Given the description of an element on the screen output the (x, y) to click on. 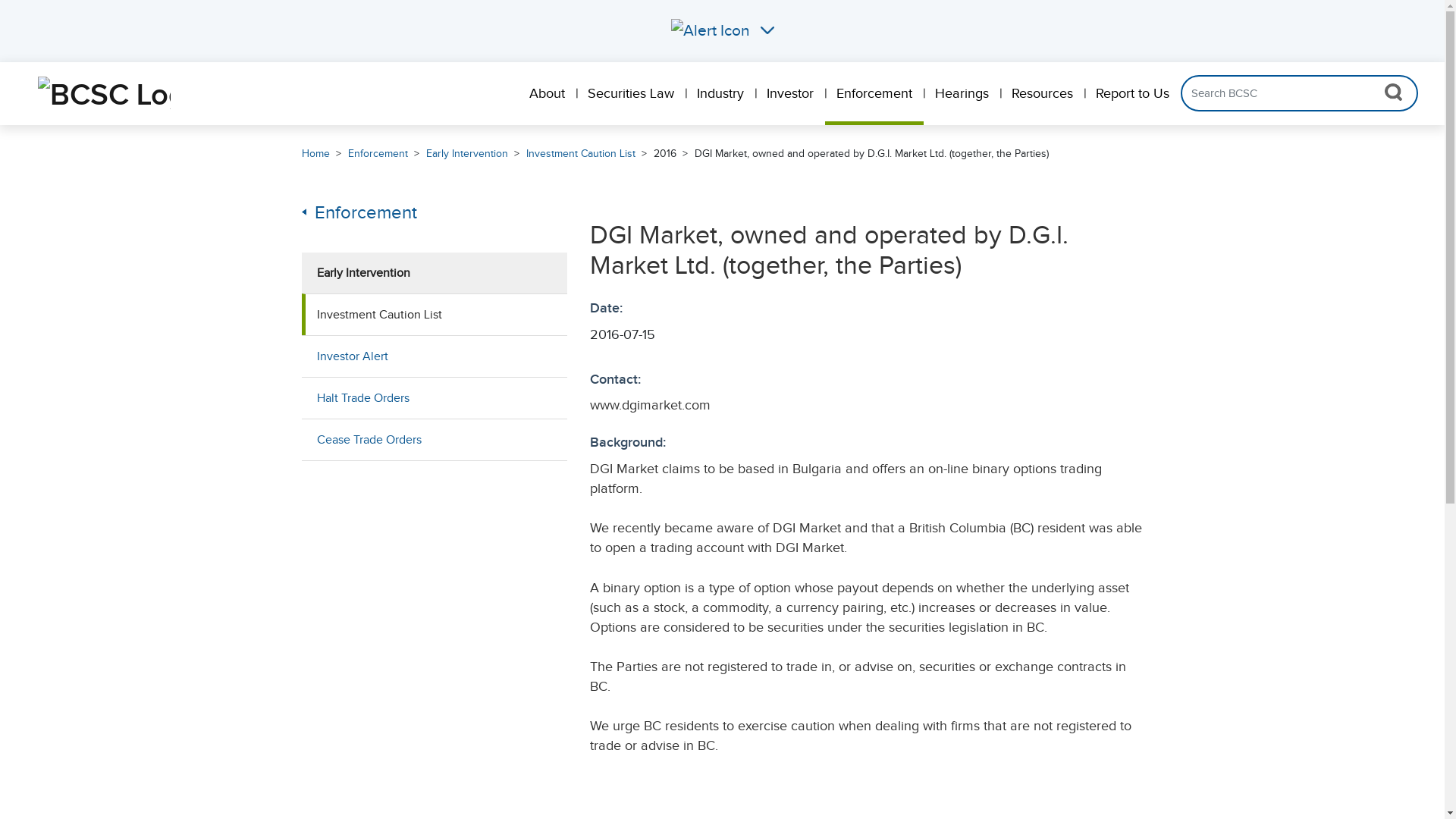
Investment Caution List Element type: text (580, 152)
Resources Element type: text (1042, 93)
Home Element type: text (315, 152)
Enforcement Element type: text (434, 211)
Halt Trade Orders Element type: text (434, 396)
Hearings Element type: text (961, 93)
Investor Alert Element type: text (434, 355)
Industry Element type: text (720, 93)
Enforcement Element type: text (377, 152)
Early Intervention Element type: text (434, 271)
Investor Element type: text (790, 93)
Securities Law Element type: text (630, 93)
Early Intervention Element type: text (467, 152)
Report to Us Element type: text (1132, 93)
Investment Caution List Element type: text (434, 313)
Skip Navigation Element type: text (25, 92)
Cease Trade Orders Element type: text (434, 439)
Enforcement Element type: text (874, 91)
About Element type: text (546, 93)
